Given the description of an element on the screen output the (x, y) to click on. 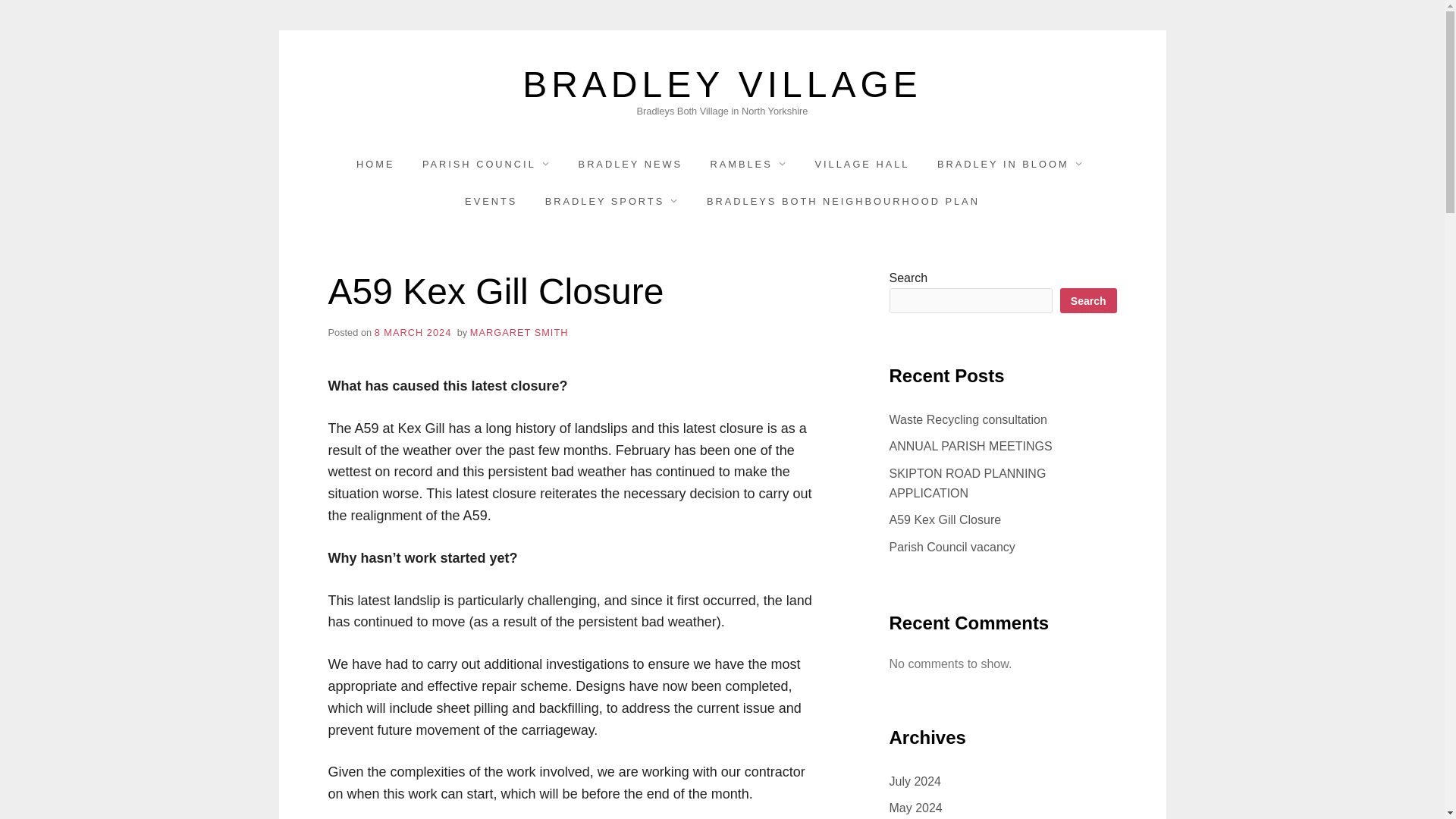
PARISH COUNCIL (485, 163)
BRADLEYS BOTH NEIGHBOURHOOD PLAN (842, 200)
VILLAGE HALL (862, 163)
HOME (375, 163)
Search (1087, 300)
BRADLEY IN BLOOM (1010, 163)
BRADLEY NEWS (630, 163)
RAMBLES (748, 163)
BRADLEY VILLAGE (721, 84)
EVENTS (490, 200)
BRADLEY SPORTS (612, 200)
MARGARET SMITH (519, 332)
8 MARCH 2024 (412, 332)
